Given the description of an element on the screen output the (x, y) to click on. 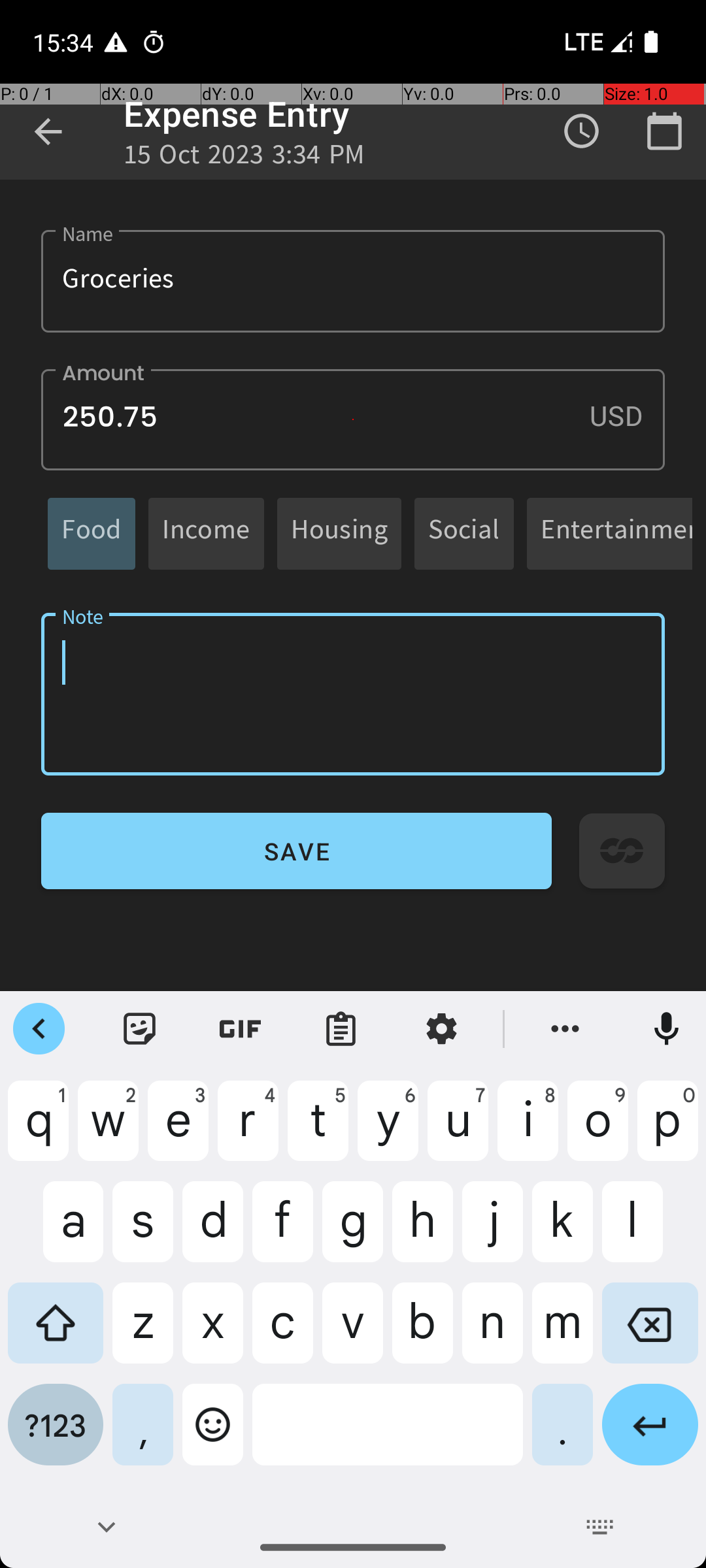
Groceries Element type: android.widget.EditText (352, 280)
250.75 Element type: android.widget.EditText (352, 419)
Close features menu Element type: android.widget.FrameLayout (39, 1028)
Sticker Keyboard Element type: android.widget.FrameLayout (139, 1028)
GIF Keyboard Element type: android.widget.FrameLayout (240, 1028)
Clipboard Element type: android.widget.FrameLayout (340, 1028)
More features Element type: android.widget.FrameLayout (565, 1028)
